Given the description of an element on the screen output the (x, y) to click on. 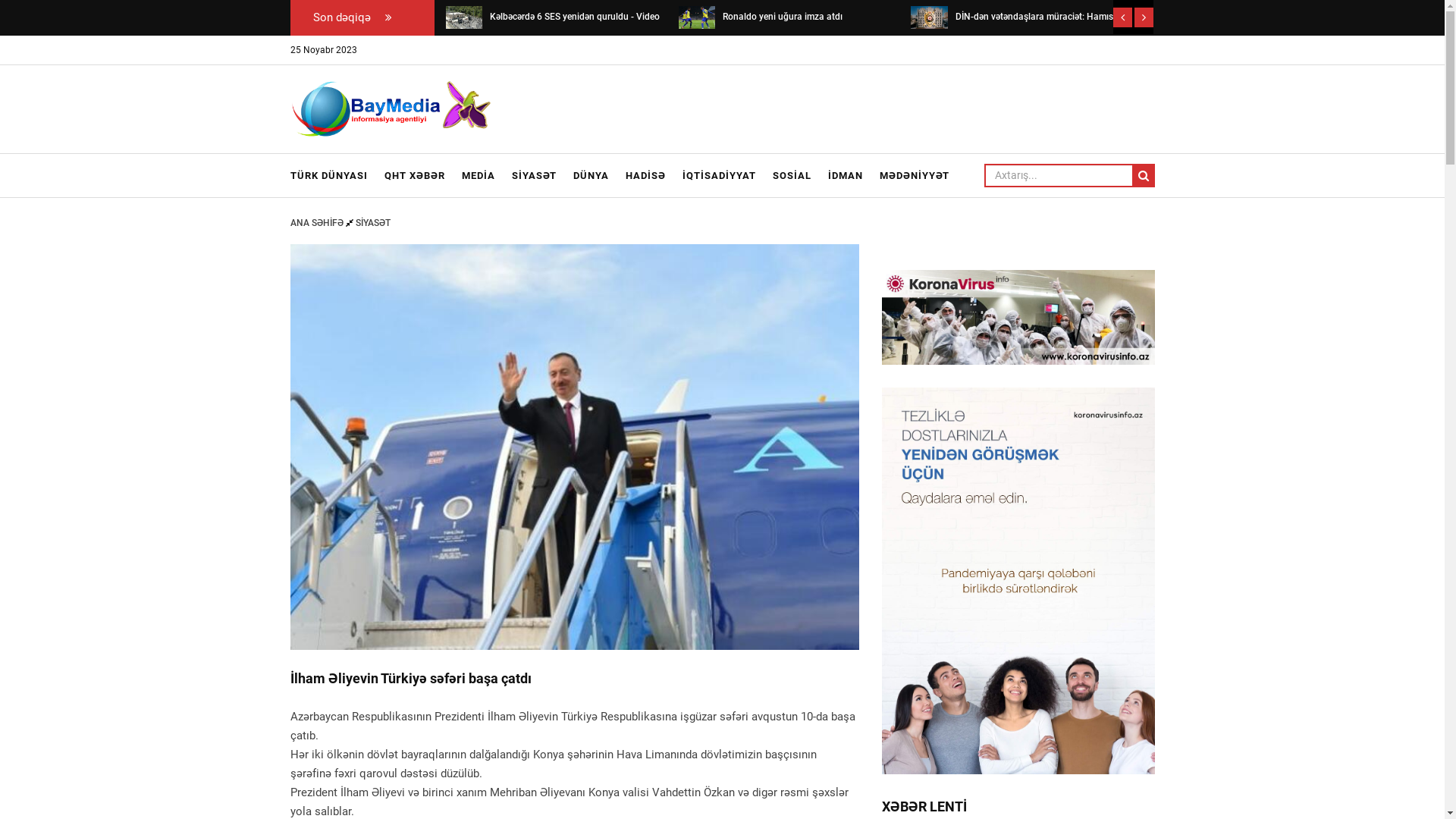
SOSIAL Element type: text (791, 175)
MEDIA Element type: text (478, 175)
